Given the description of an element on the screen output the (x, y) to click on. 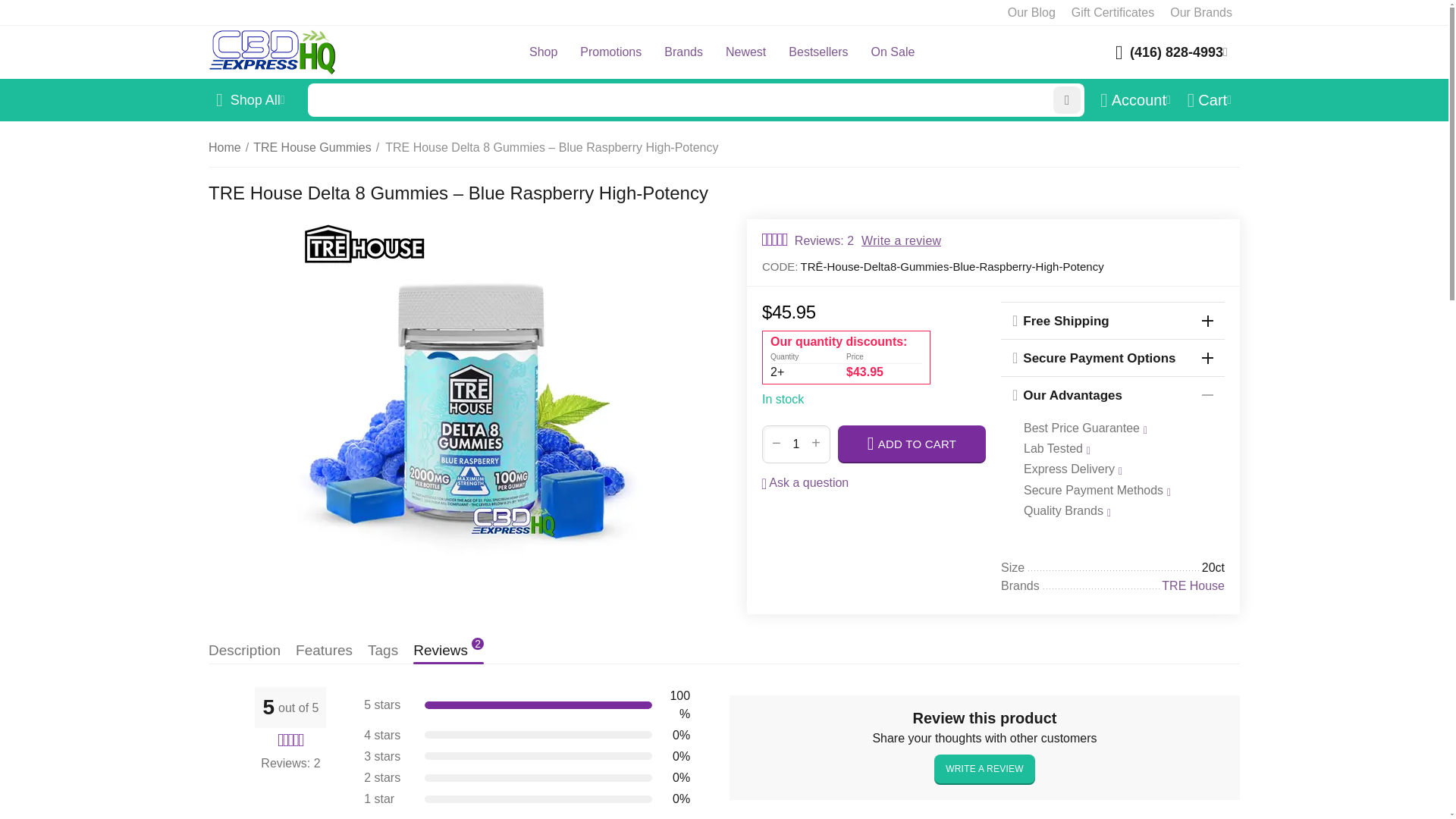
Our Brands (1200, 12)
Bestsellers (818, 51)
On Sale (892, 51)
Write a review (900, 239)
Cart (1209, 99)
Search (1066, 99)
Our Blog (1031, 12)
Account (1135, 99)
Promotions (610, 51)
Search (695, 100)
